Given the description of an element on the screen output the (x, y) to click on. 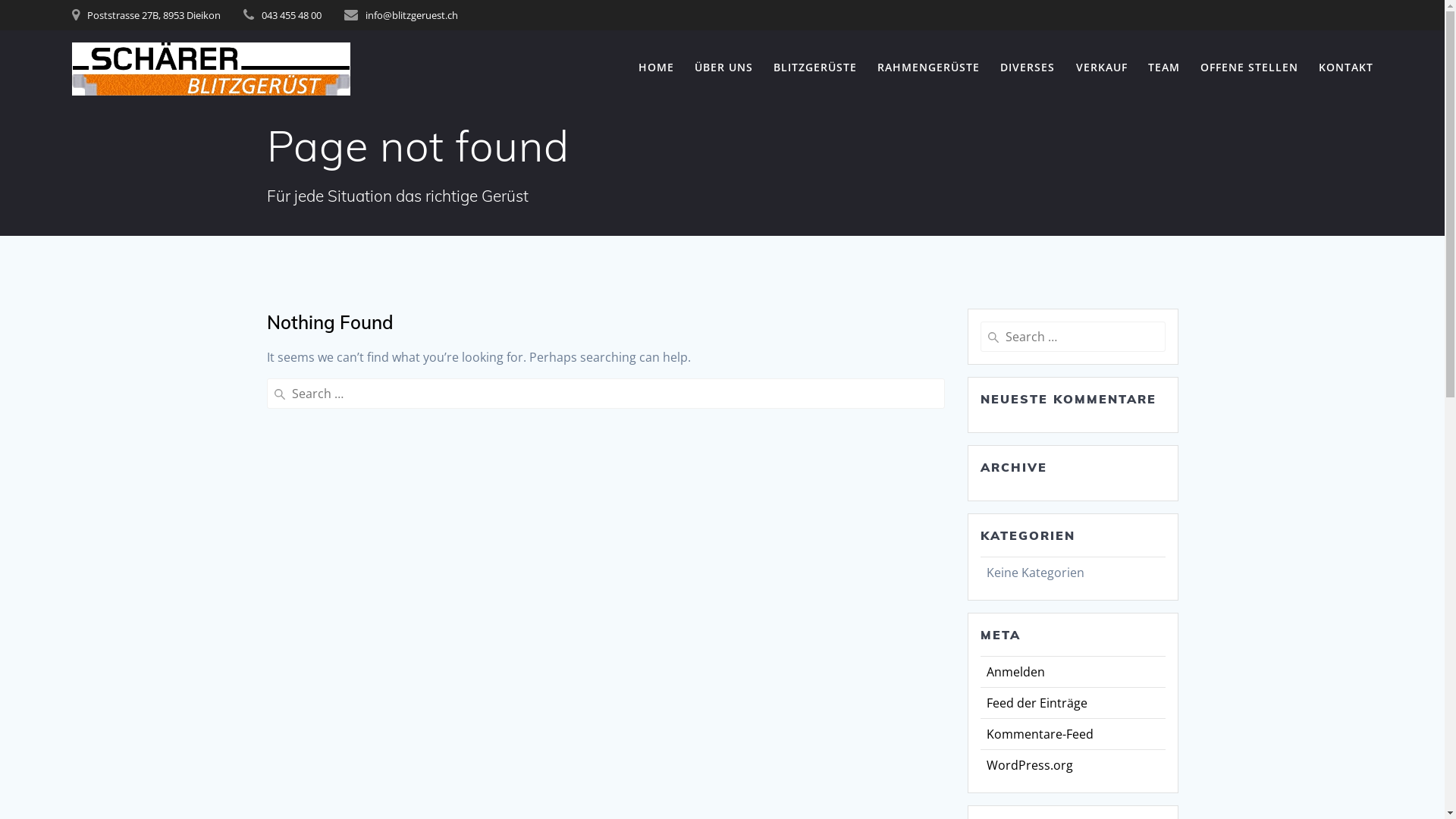
KONTAKT Element type: text (1345, 68)
WordPress.org Element type: text (1028, 764)
OFFENE STELLEN Element type: text (1249, 68)
Kommentare-Feed Element type: text (1038, 733)
TEAM Element type: text (1163, 68)
DIVERSES Element type: text (1027, 68)
VERKAUF Element type: text (1101, 68)
HOME Element type: text (656, 68)
Anmelden Element type: text (1014, 671)
